Given the description of an element on the screen output the (x, y) to click on. 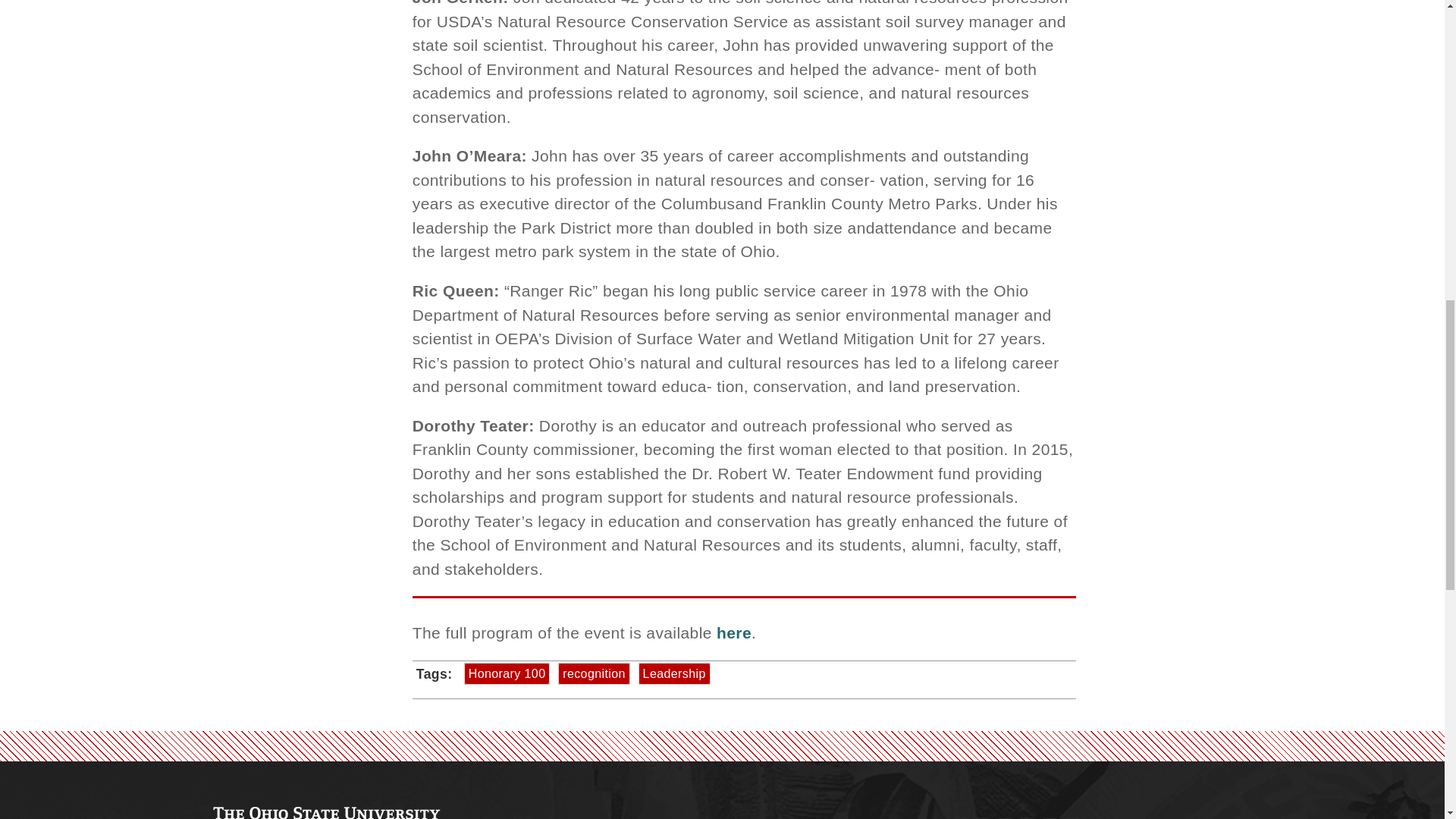
CFAES Home (325, 812)
